Given the description of an element on the screen output the (x, y) to click on. 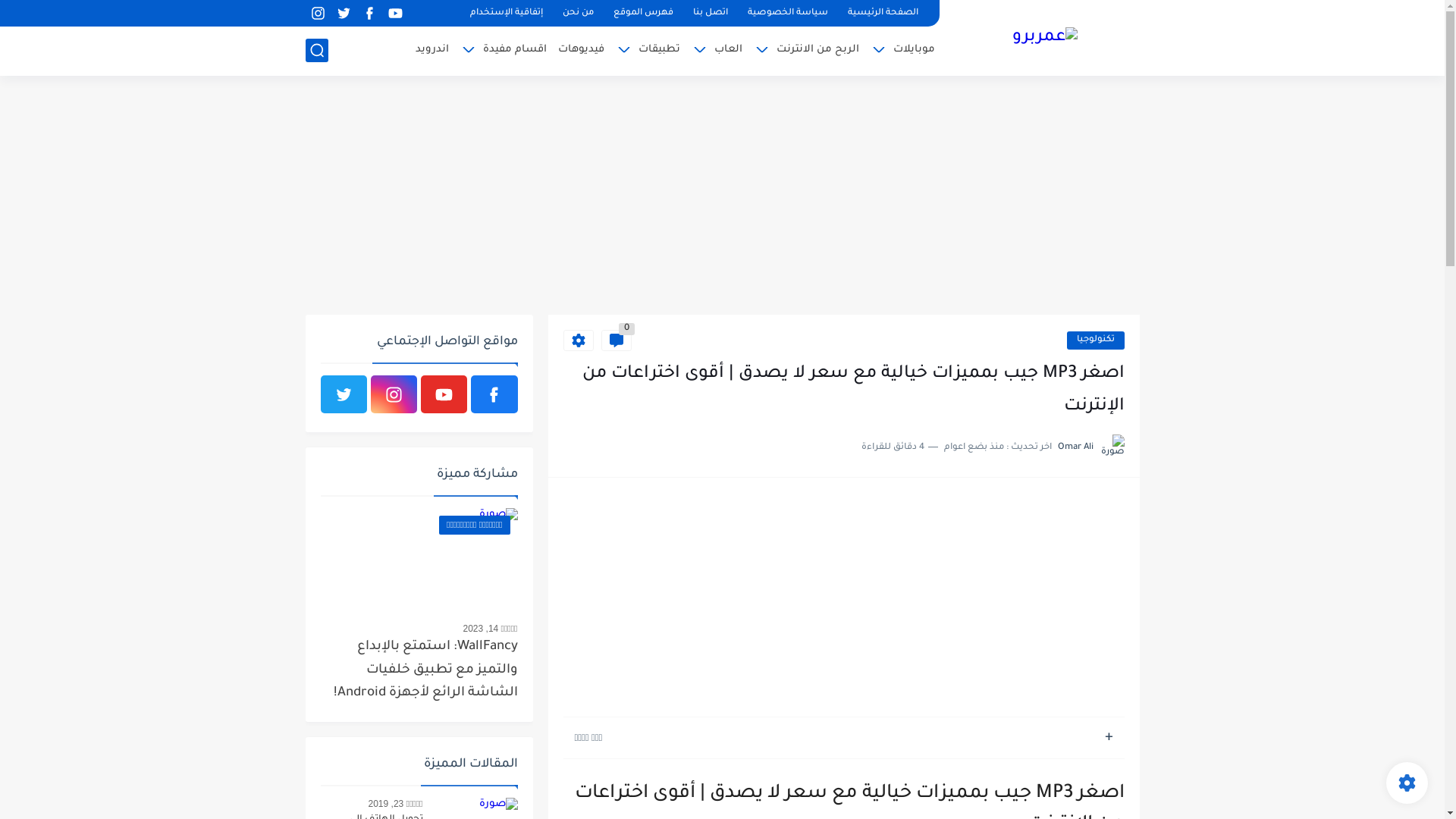
Advertisement Element type: hover (721, 197)
youtube Element type: hover (395, 13)
facebook Element type: hover (493, 394)
facebook Element type: hover (369, 13)
youtube Element type: hover (443, 394)
0 Element type: text (615, 340)
twitter Element type: hover (344, 13)
instagram Element type: hover (318, 13)
Advertisement Element type: hover (842, 598)
instagram Element type: hover (393, 394)
twitter Element type: hover (343, 394)
